Given the description of an element on the screen output the (x, y) to click on. 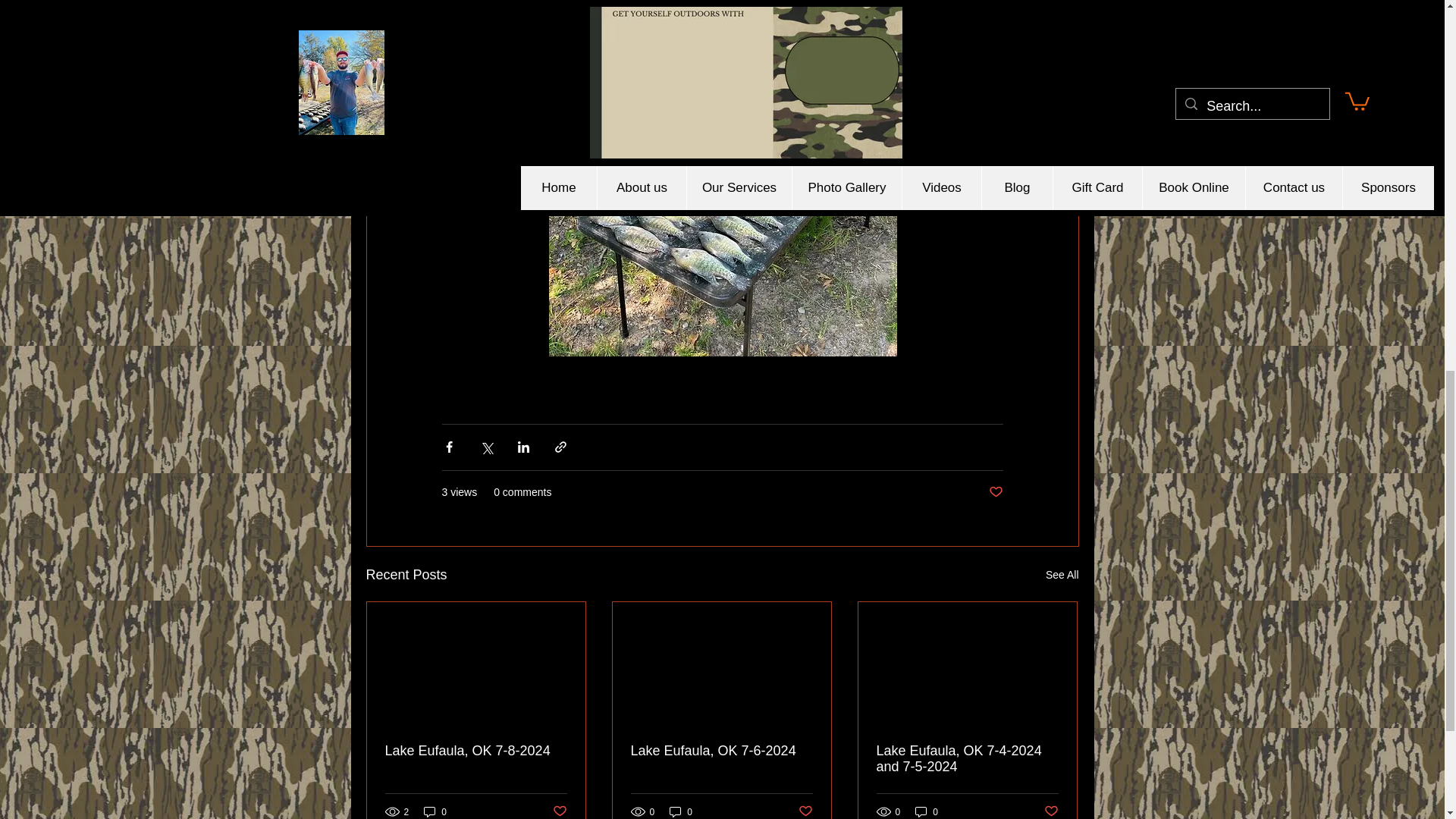
Post not marked as liked (558, 811)
Post not marked as liked (995, 492)
0 (435, 811)
See All (1061, 575)
Lake Eufaula, OK 7-8-2024 (476, 750)
